Given the description of an element on the screen output the (x, y) to click on. 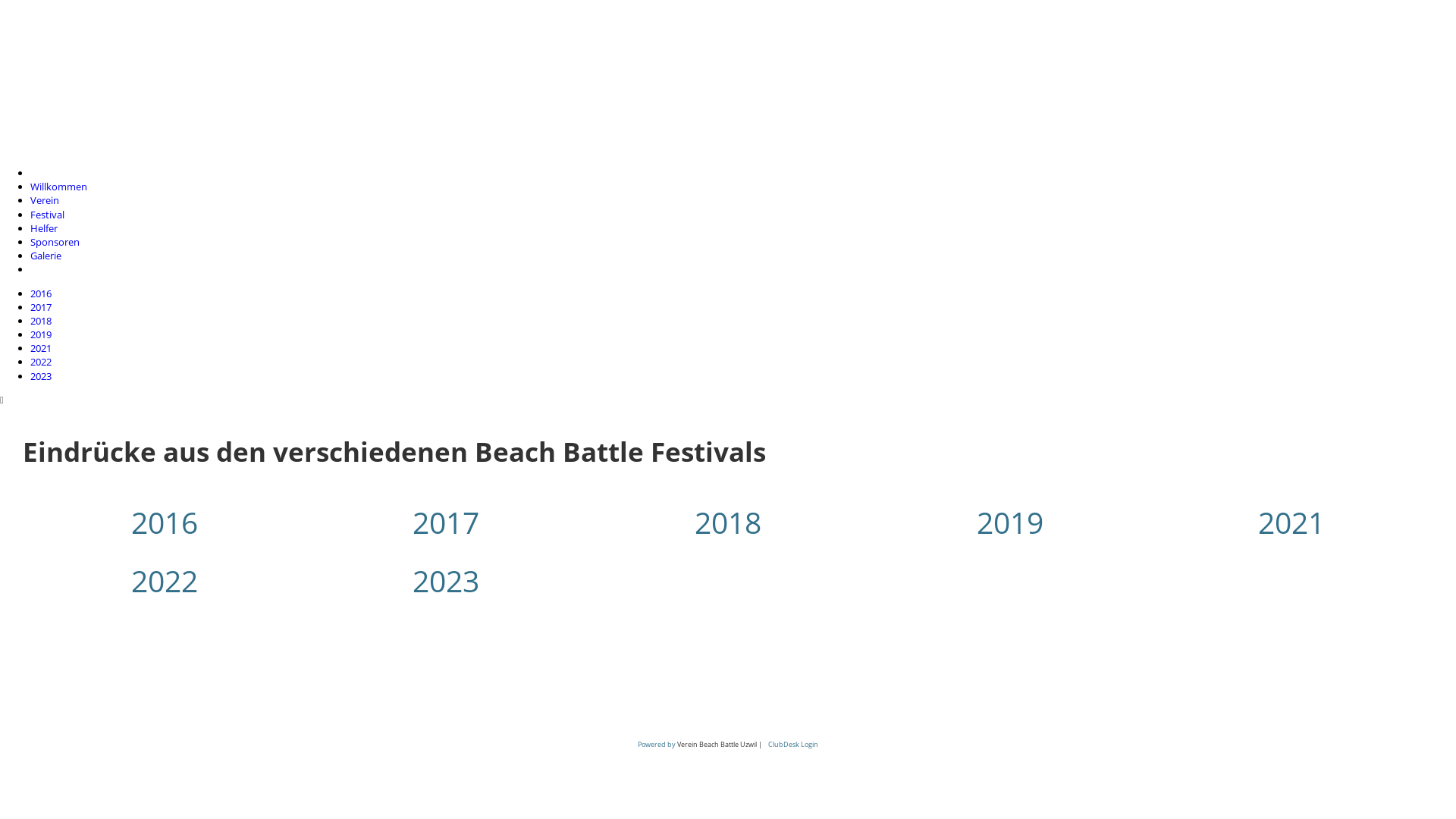
2023 Element type: text (40, 375)
Festival Element type: text (47, 214)
2017 Element type: text (40, 306)
ClubDesk Login Element type: text (793, 744)
Galerie Element type: text (45, 255)
Helfer Element type: text (43, 228)
2022 Element type: text (164, 580)
2017 Element type: text (445, 522)
2018 Element type: text (40, 320)
2021 Element type: text (1291, 522)
2021 Element type: text (40, 347)
Powered by Element type: text (656, 744)
2023 Element type: text (445, 580)
Sponsoren Element type: text (54, 241)
Verein Element type: text (44, 200)
2018 Element type: text (727, 522)
2016 Element type: text (40, 293)
2019 Element type: text (40, 334)
2019 Element type: text (1009, 522)
2016 Element type: text (164, 522)
2022 Element type: text (40, 361)
Willkommen Element type: text (58, 186)
